Given the description of an element on the screen output the (x, y) to click on. 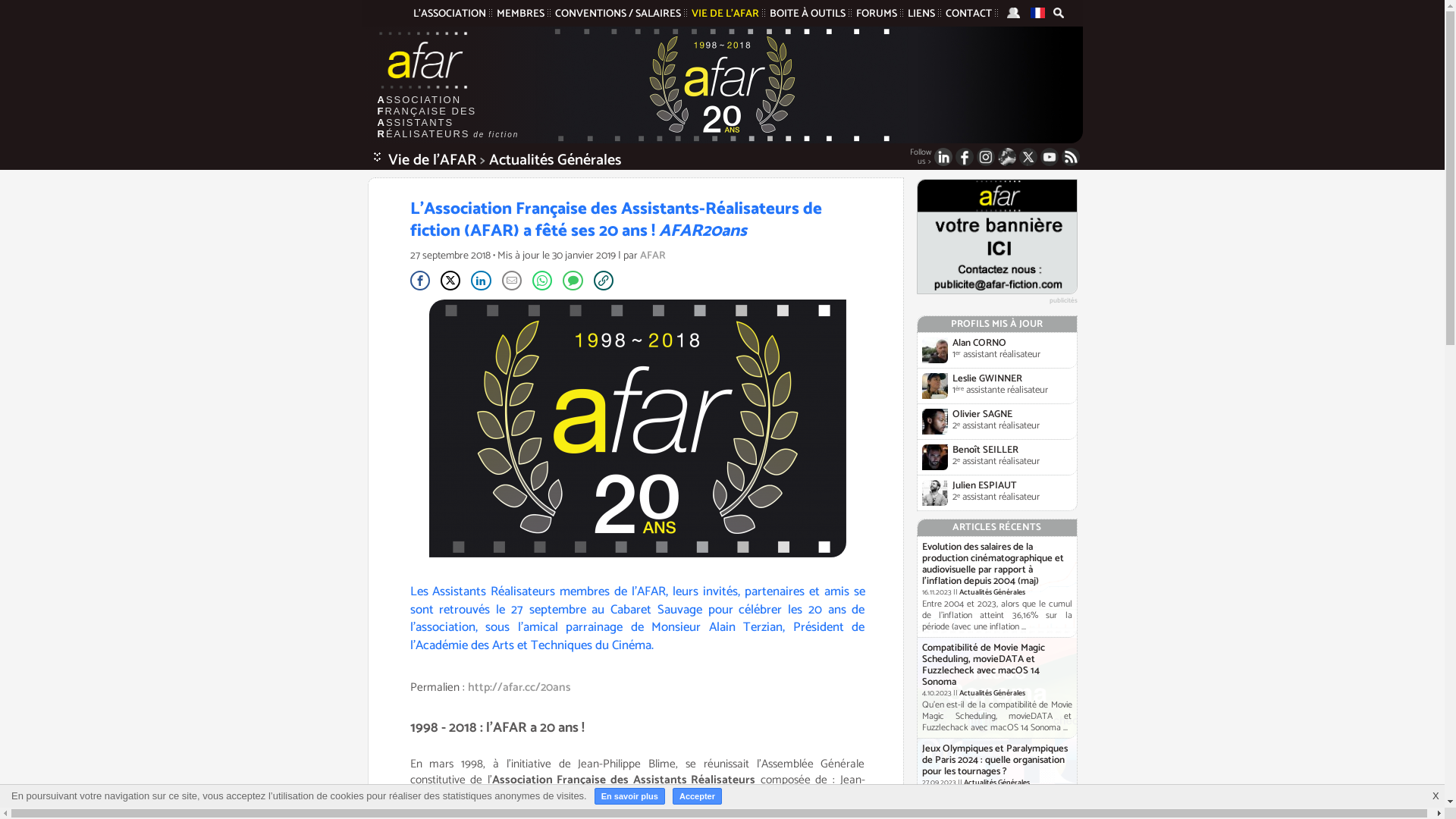
Partager sur LinkedIn Element type: hover (480, 280)
CONVENTIONS / SALAIRES Element type: text (617, 13)
Partager par email Element type: hover (511, 280)
Olivier SAGNE Element type: text (982, 414)
CONTACT Element type: text (967, 13)
En savoir plus Element type: text (629, 795)
Alan CORNO Element type: text (979, 343)
http://afar.cc/20ans Element type: text (518, 686)
Copier le lien de l'article Element type: hover (603, 280)
Julien ESPIAUT Element type: text (984, 485)
version francaise Element type: hover (1036, 12)
MEMBRES Element type: text (519, 13)
Accepter Element type: text (696, 795)
Partager sur WhatsApp Element type: hover (542, 280)
Leslie GWINNER Element type: text (987, 378)
AFAR20ans Element type: text (702, 230)
AFAR Element type: hover (422, 60)
Partager sur Facebook Element type: hover (419, 280)
rechercher Element type: hover (1057, 13)
X Element type: text (1435, 793)
LIENS Element type: text (920, 13)
Partager par sms Element type: hover (572, 280)
FORUMS Element type: text (875, 13)
AFAR Element type: text (652, 255)
